Given the description of an element on the screen output the (x, y) to click on. 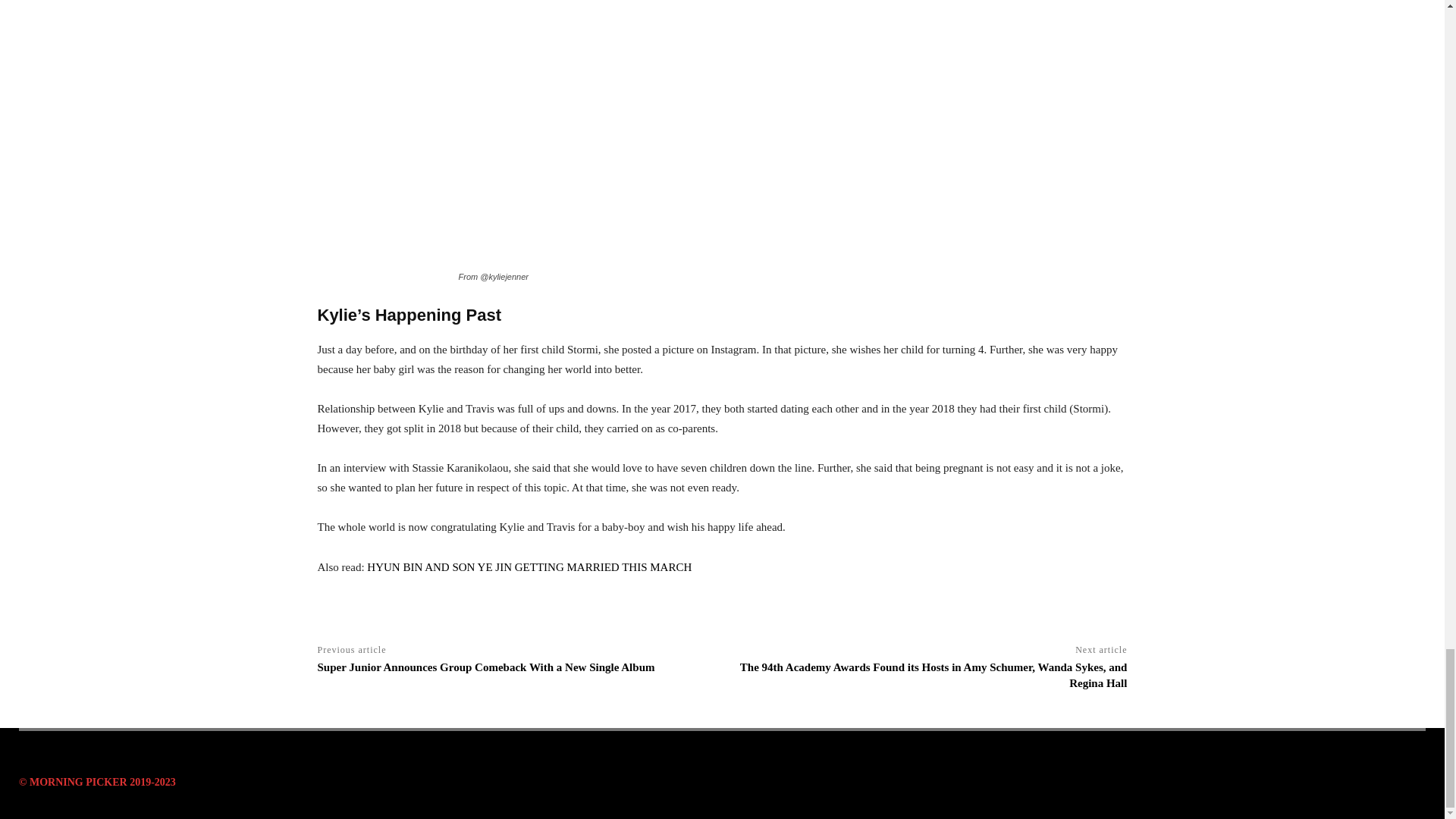
Hyun Bin and Son Ye Jin Getting Married This March (528, 567)
